Given the description of an element on the screen output the (x, y) to click on. 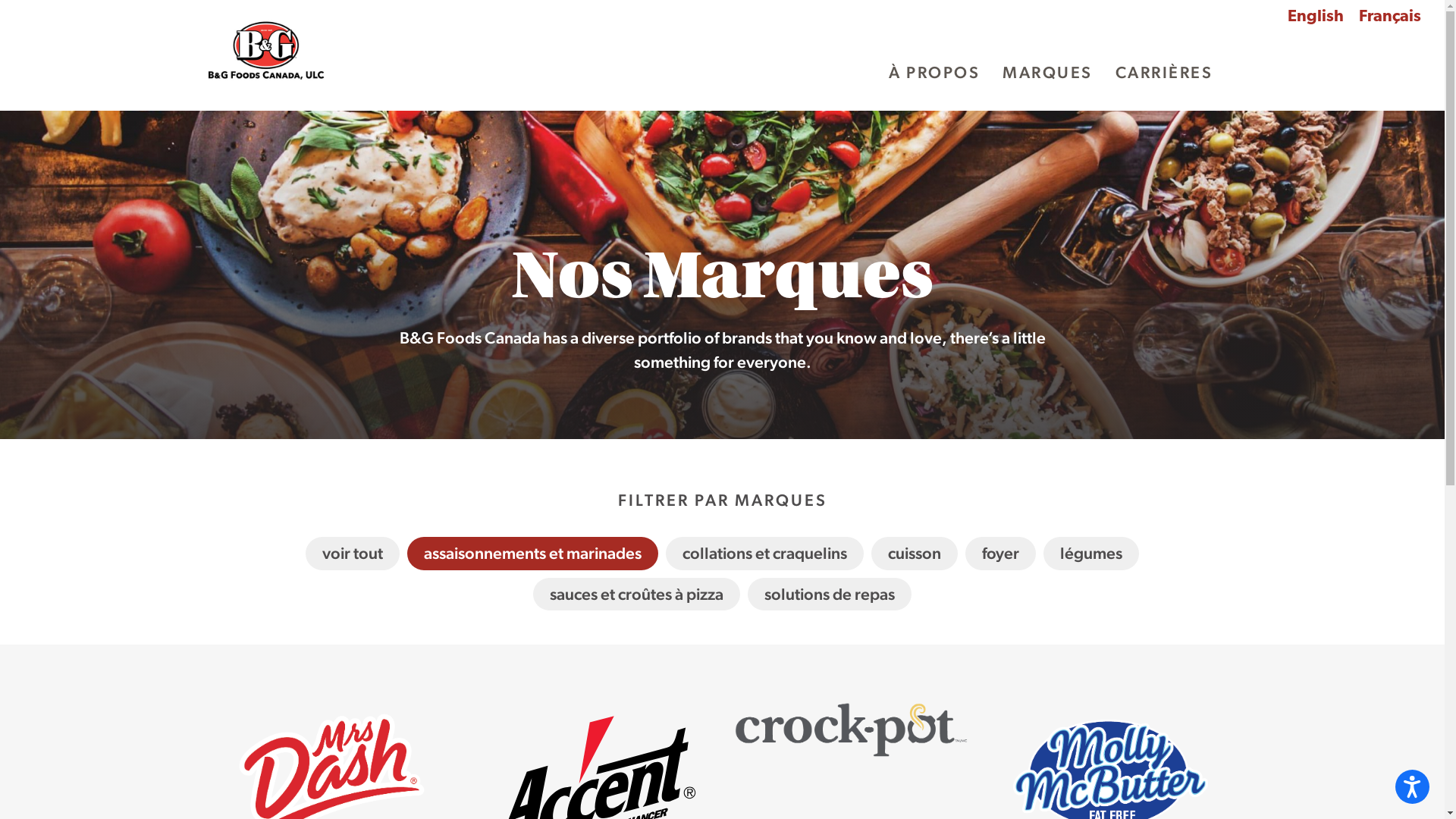
foyer Element type: text (1000, 552)
voir tout Element type: text (351, 552)
MARQUES Element type: text (1051, 72)
English Element type: text (1315, 17)
collations et craquelins Element type: text (763, 552)
solutions de repas Element type: text (828, 593)
 Crock-Pot Seasoning Mixes Element type: hover (850, 807)
assaisonnements et marinades Element type: text (532, 552)
cuisson Element type: text (914, 552)
